Given the description of an element on the screen output the (x, y) to click on. 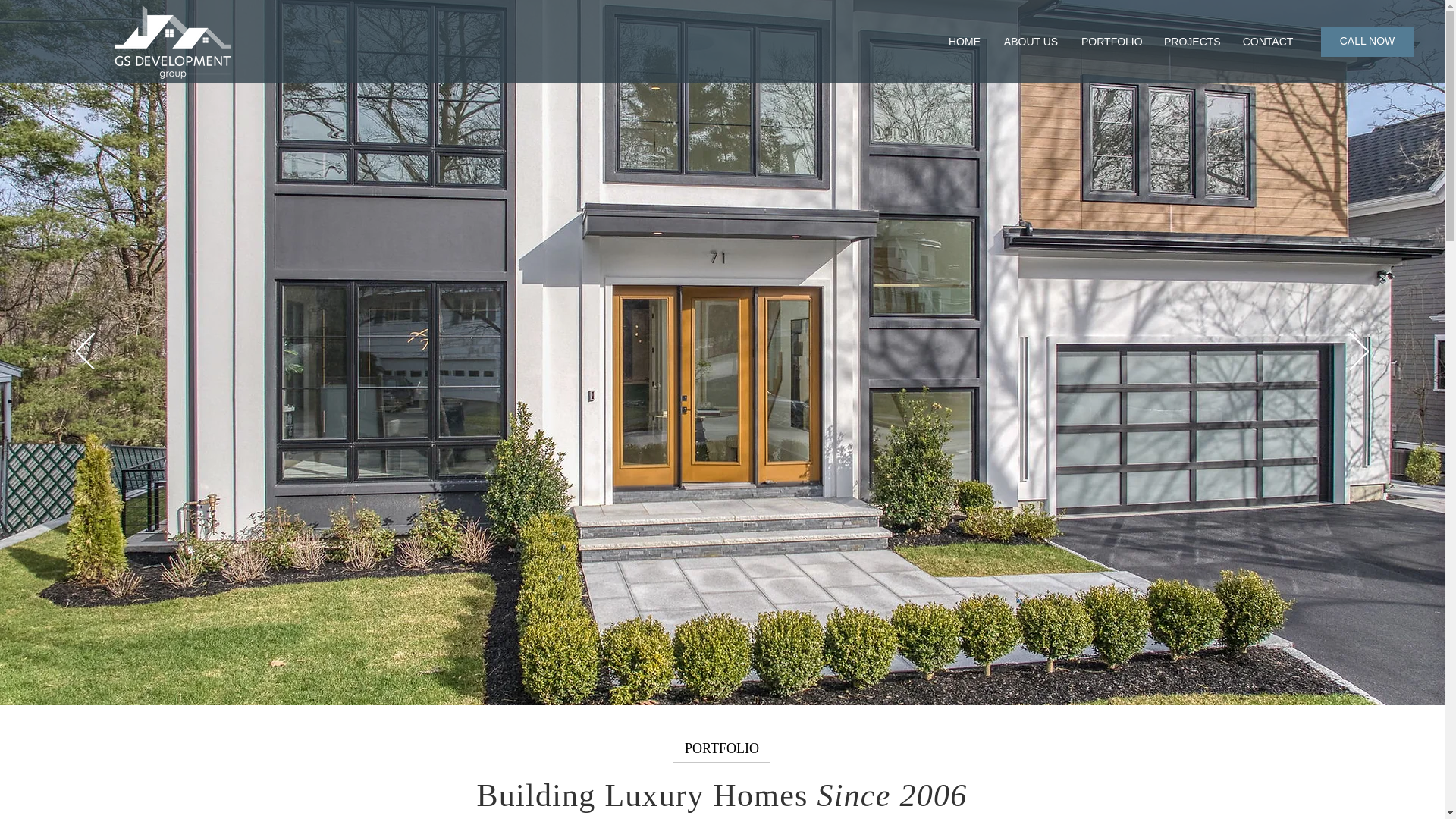
PROJECTS (1191, 41)
CALL NOW (1366, 41)
ABOUT US (1030, 41)
CONTACT (1267, 41)
HOME (964, 41)
PORTFOLIO (1111, 41)
